Given the description of an element on the screen output the (x, y) to click on. 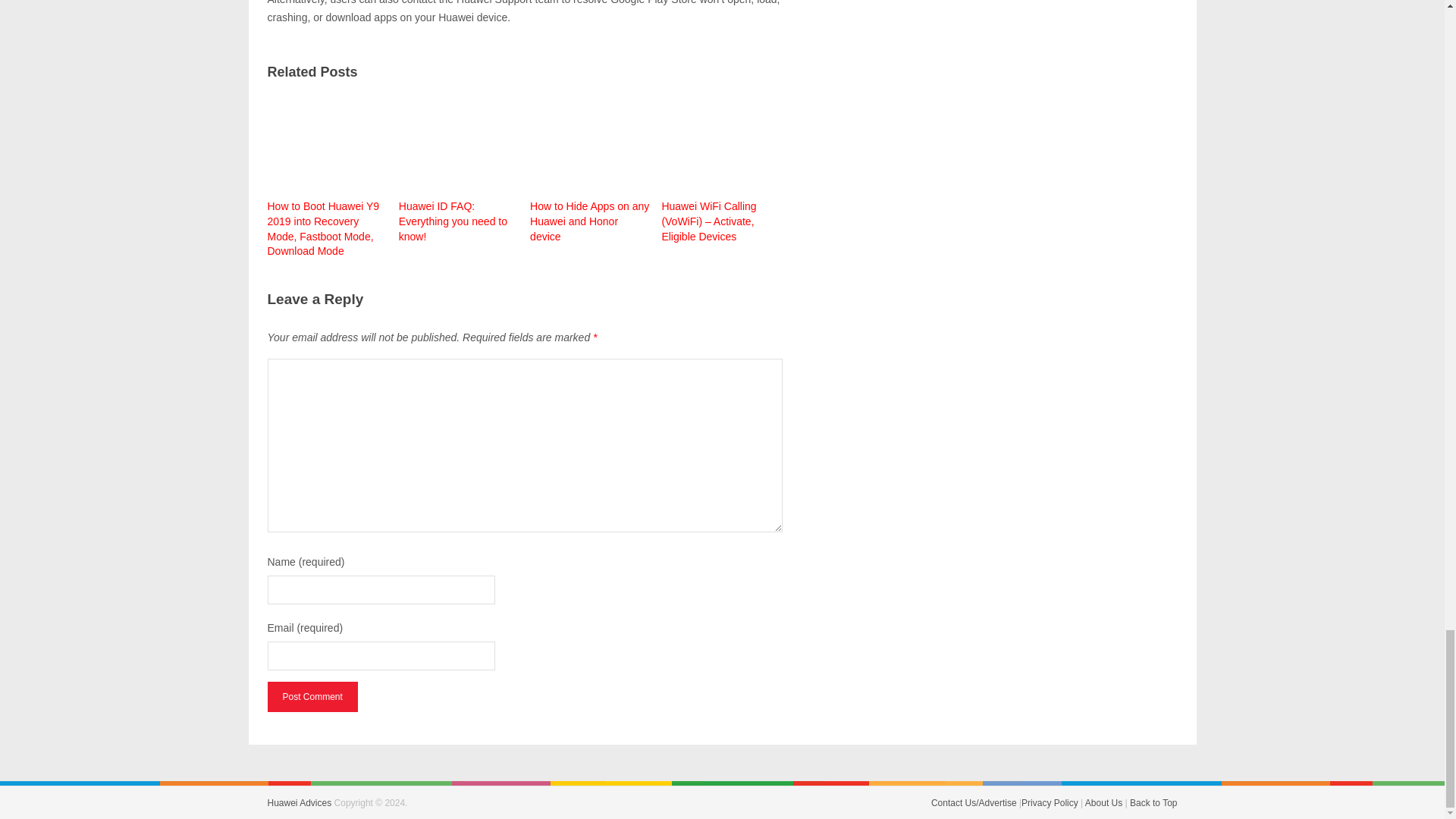
Post Comment (311, 696)
How to Hide Apps on any Huawei and Honor device (589, 166)
Huawei ID FAQ: Everything you need to know! (458, 166)
How to Hide Apps on any Huawei and Honor device (589, 166)
Huawei Advices (298, 802)
Post Comment (311, 696)
Huawei ID FAQ: Everything you need to know! (458, 166)
About Us (1103, 802)
Privacy Policy (1050, 802)
Back to Top (1152, 802)
Huawei News Blog (298, 802)
